Given the description of an element on the screen output the (x, y) to click on. 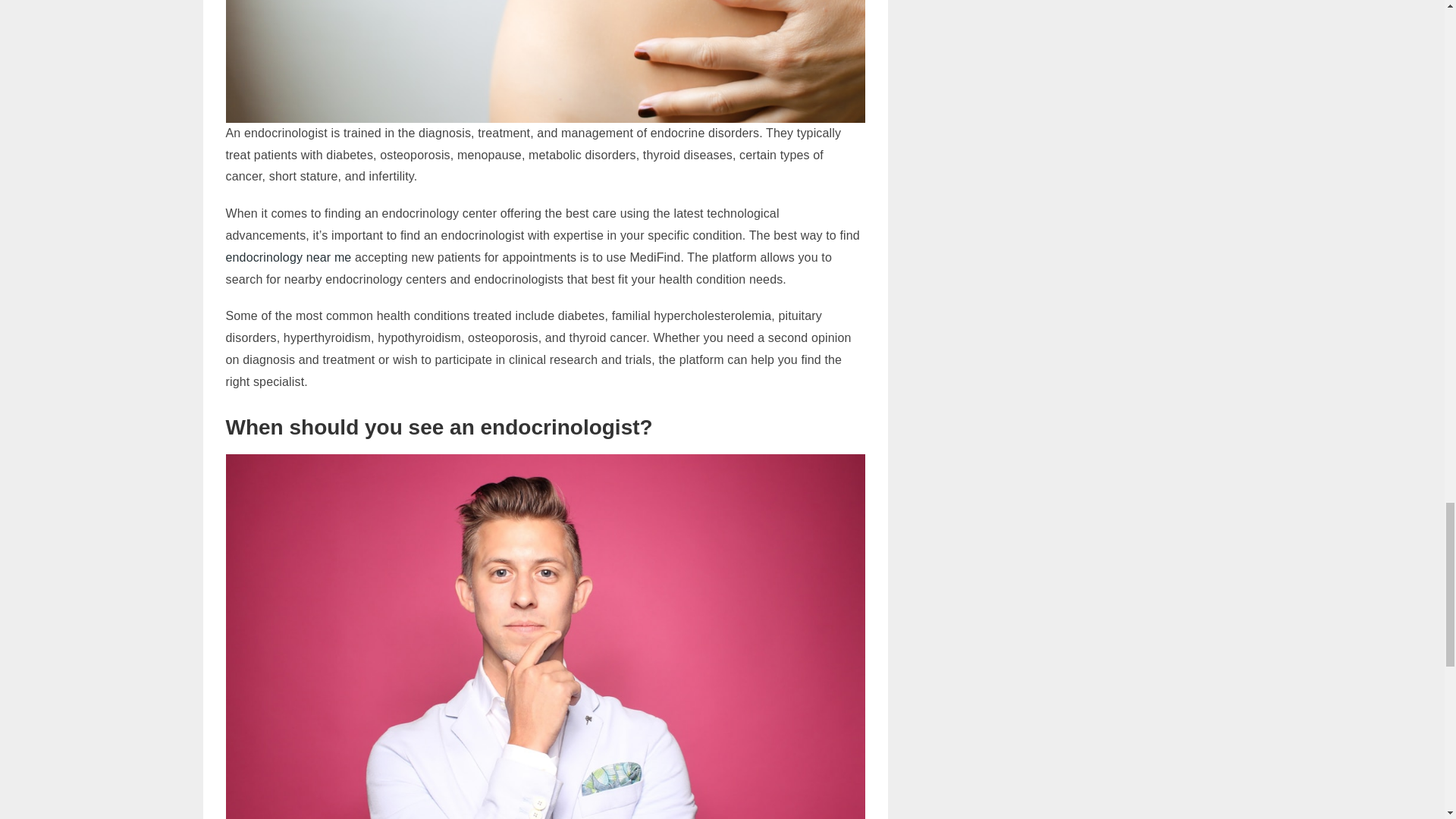
endocrinology near me (288, 256)
